Given the description of an element on the screen output the (x, y) to click on. 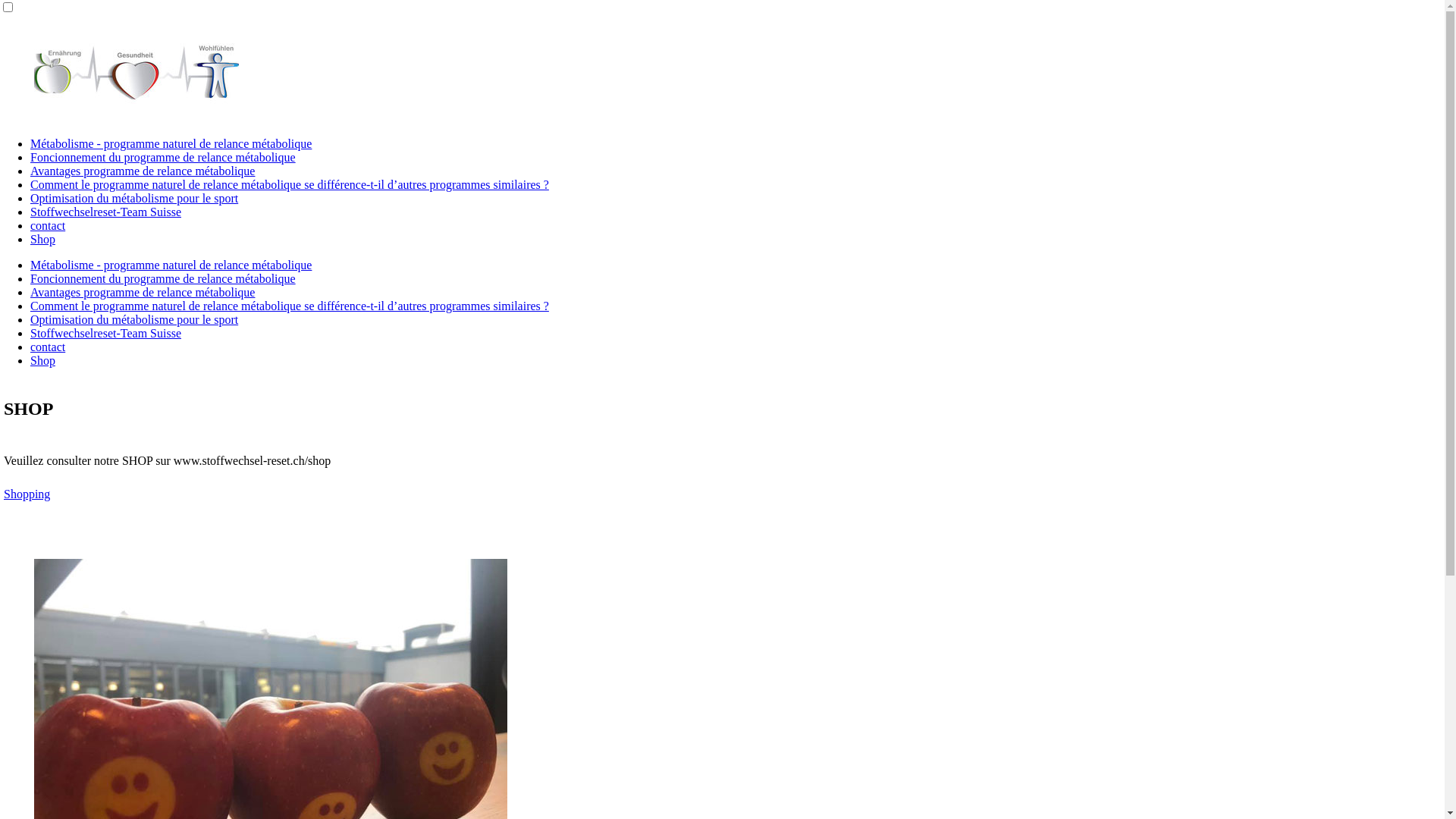
Shop Element type: text (42, 360)
Shop Element type: text (42, 238)
Shopping Element type: text (26, 493)
contact Element type: text (47, 225)
Stoffwechselreset-Team Suisse Element type: text (105, 211)
Stoffwechselreset-Team Suisse Element type: text (105, 332)
contact Element type: text (47, 346)
